Given the description of an element on the screen output the (x, y) to click on. 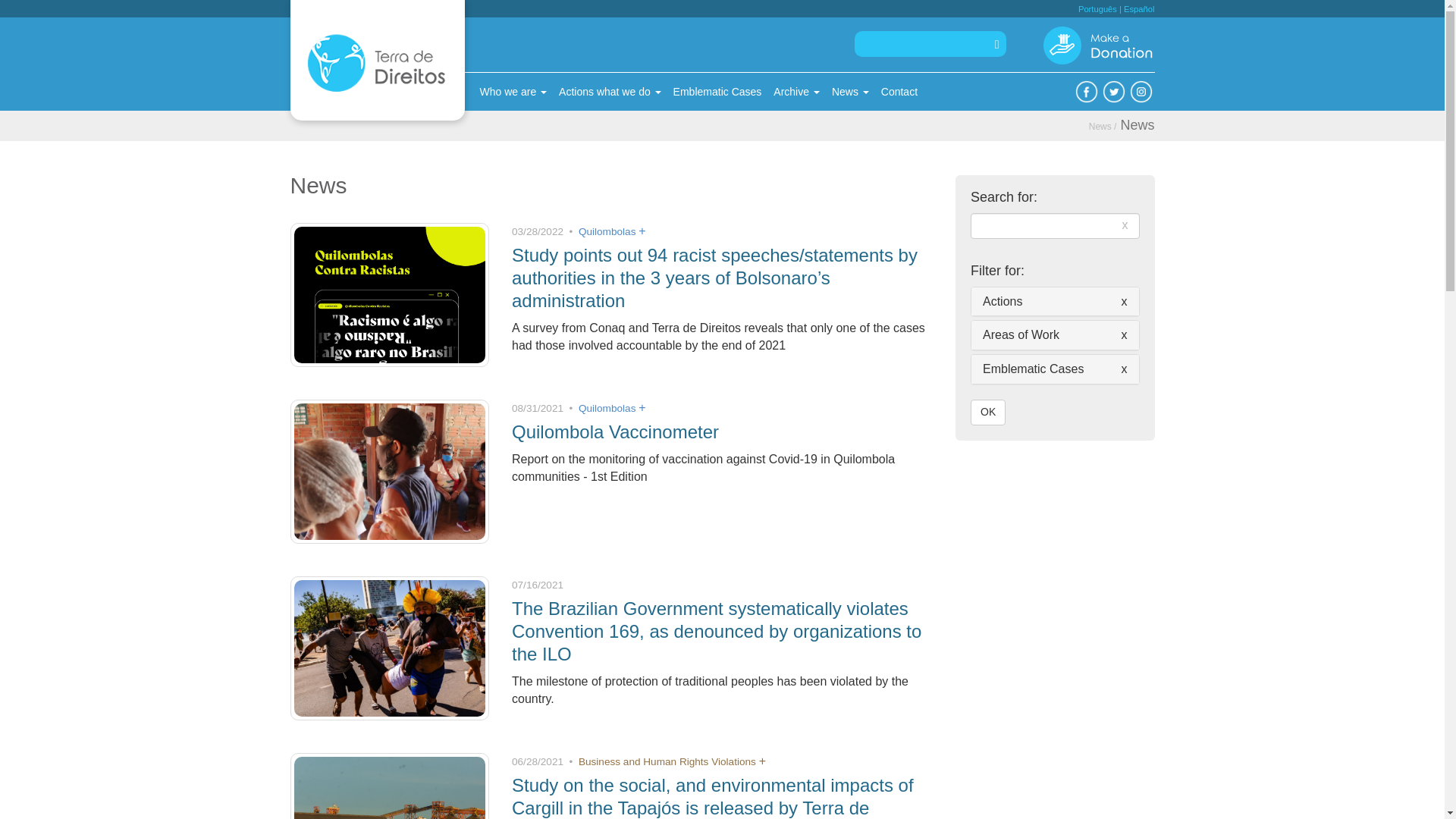
Emblematic Cases (717, 91)
Archive (796, 91)
Actions what we do (609, 91)
News (850, 91)
News (1136, 124)
Who we are (513, 91)
Contact (899, 91)
